Given the description of an element on the screen output the (x, y) to click on. 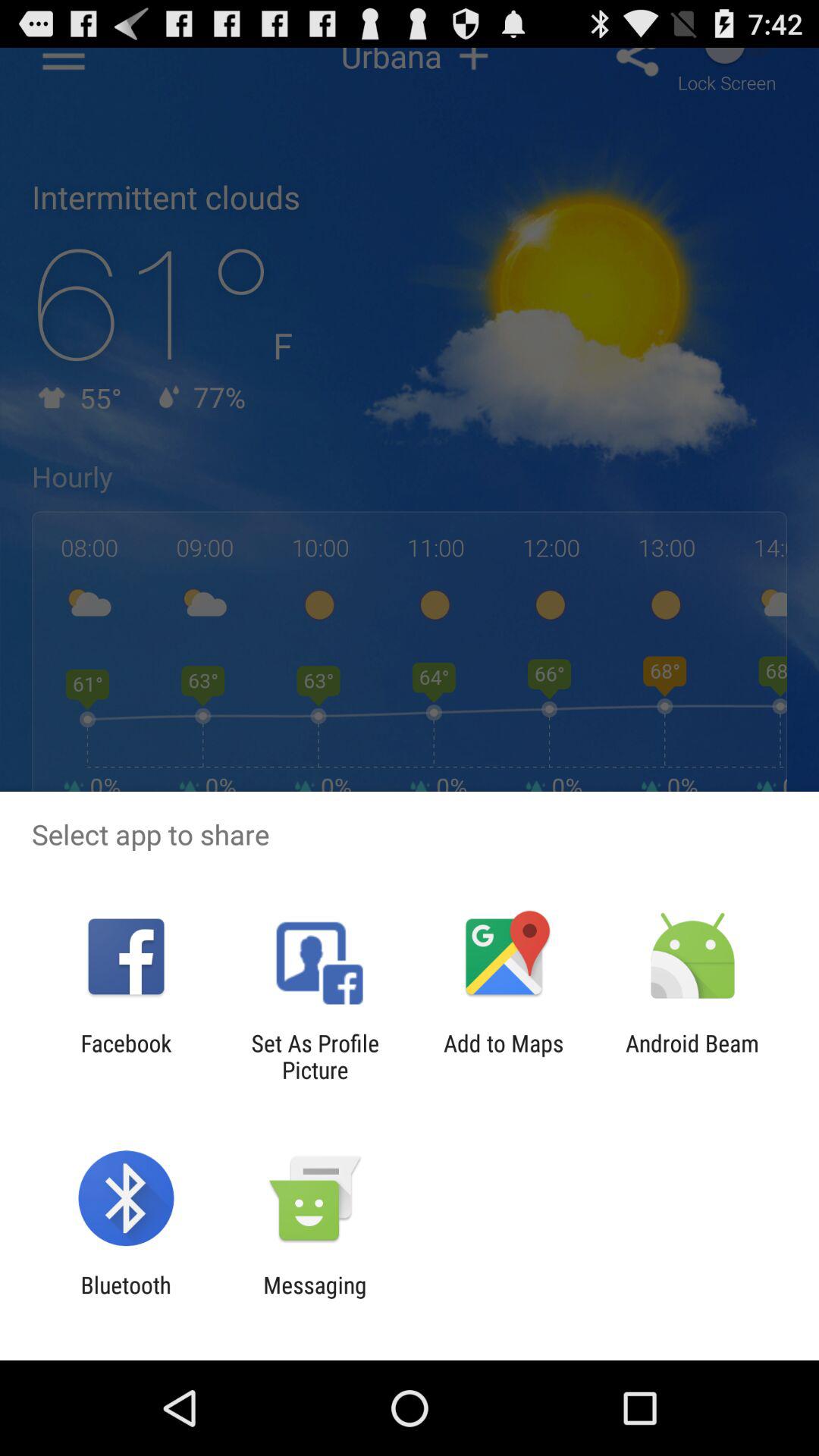
tap app to the right of the facebook item (314, 1056)
